Given the description of an element on the screen output the (x, y) to click on. 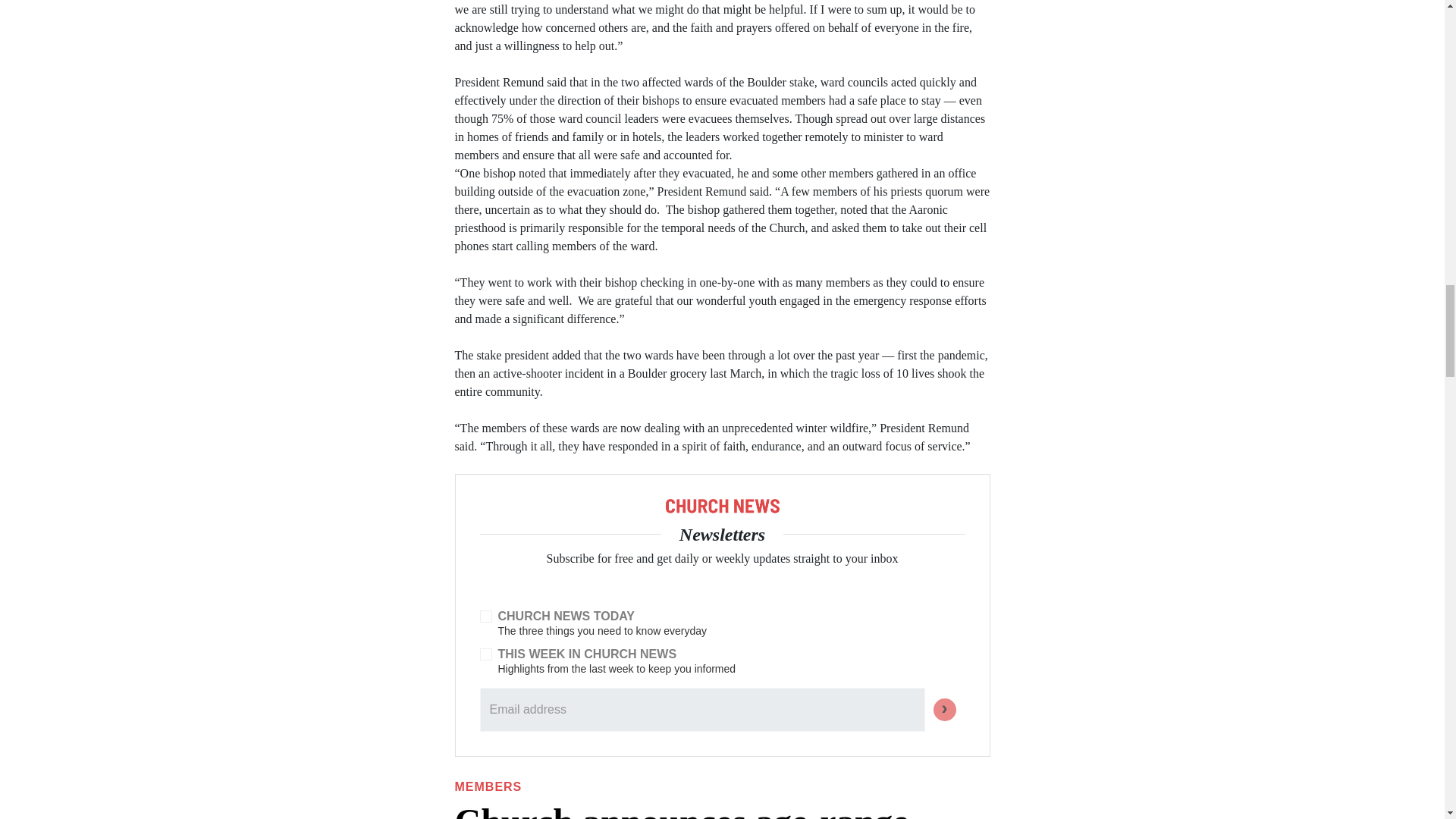
This Week in Church News (485, 654)
Church News Today (485, 616)
MEMBERS (488, 786)
